Given the description of an element on the screen output the (x, y) to click on. 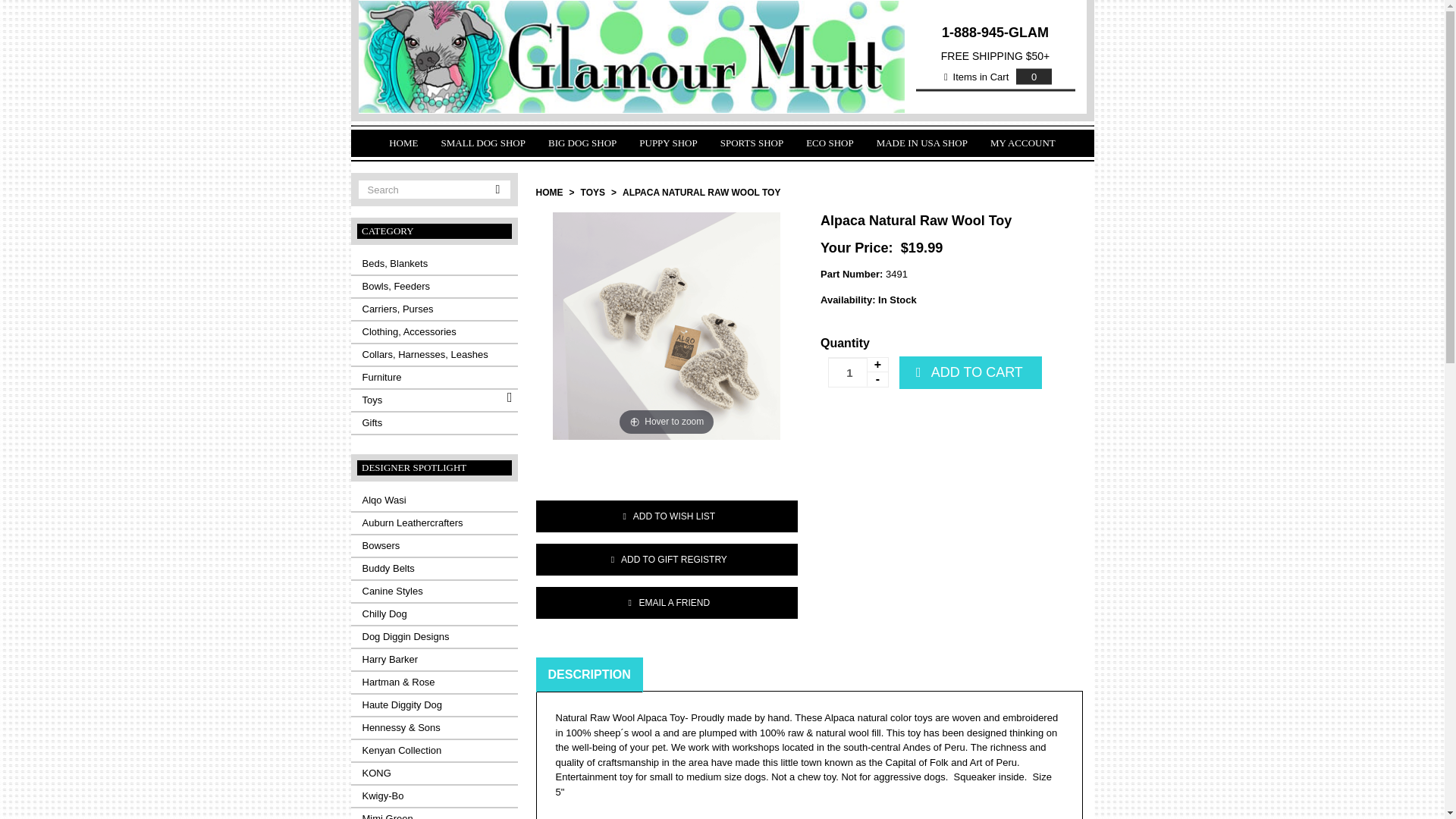
Carriers, Purses (433, 309)
Chilly Dog (433, 613)
1-888-945-GLAM (995, 31)
PUPPY SHOP (667, 143)
Alqo Wasi (433, 500)
Items in Cart 0 (995, 76)
Dog Diggin Designs (433, 636)
SPORTS SHOP (751, 143)
BIG DOG SHOP (582, 143)
Gifts (433, 423)
Canine Styles (433, 590)
HOME (403, 143)
Toys (433, 400)
SMALL DOG SHOP (482, 143)
Auburn Leathercrafters (433, 522)
